Given the description of an element on the screen output the (x, y) to click on. 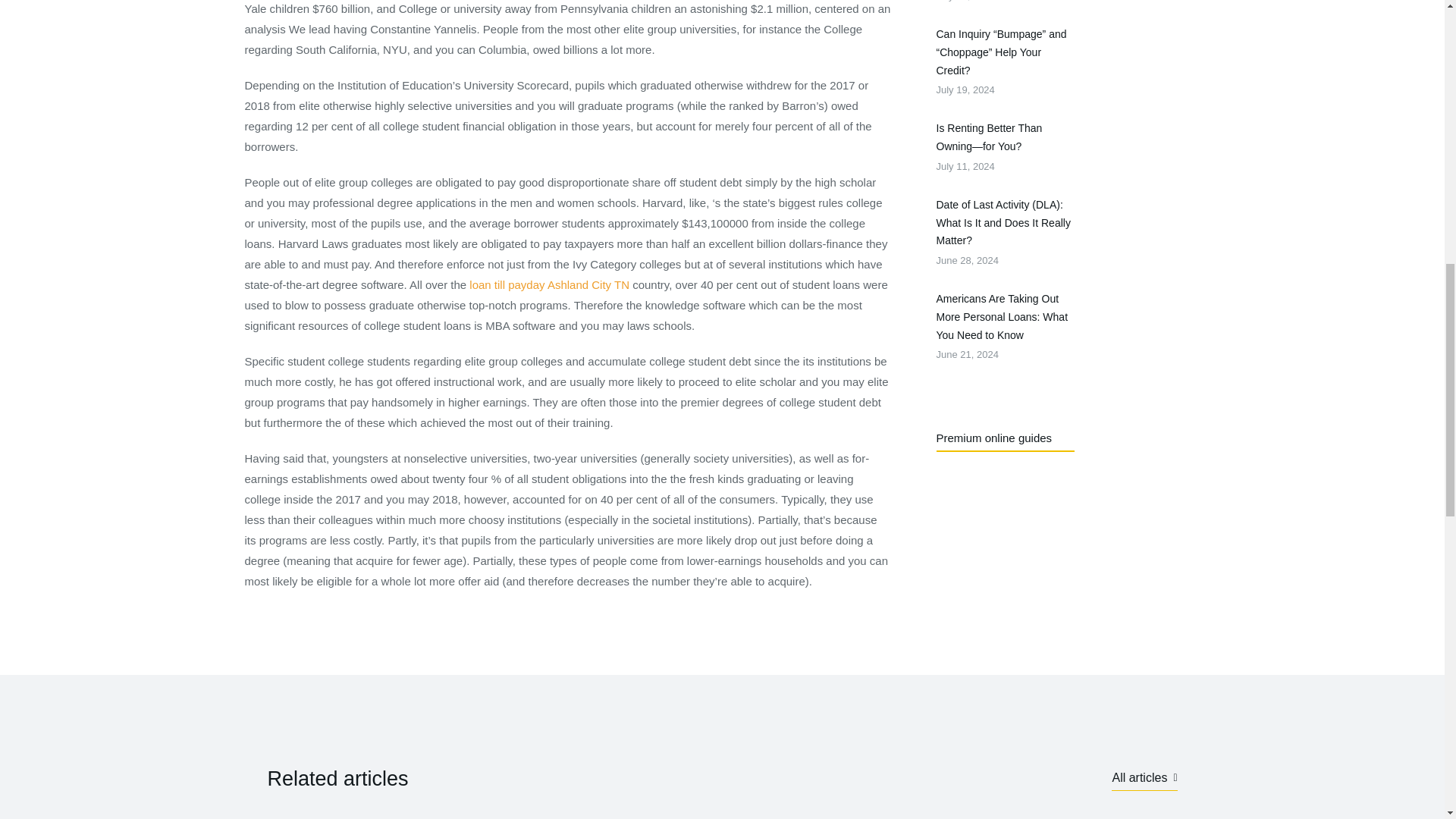
All articles (548, 284)
